Given the description of an element on the screen output the (x, y) to click on. 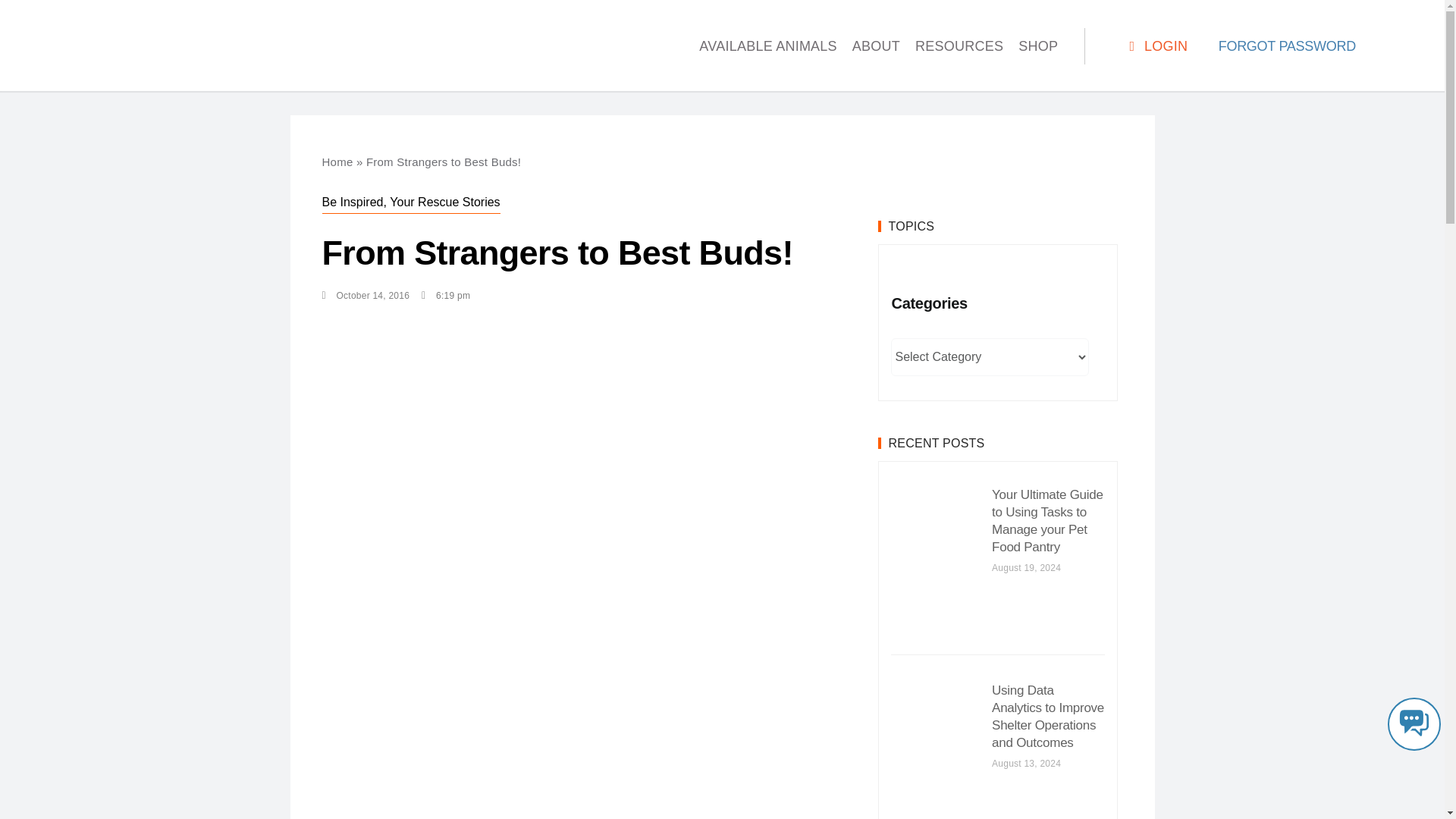
AVAILABLE ANIMALS (767, 45)
RESOURCES (958, 45)
SHOP (1037, 45)
ABOUT (875, 45)
FORGOT PASSWORD (1286, 46)
LOGIN (1156, 46)
